Given the description of an element on the screen output the (x, y) to click on. 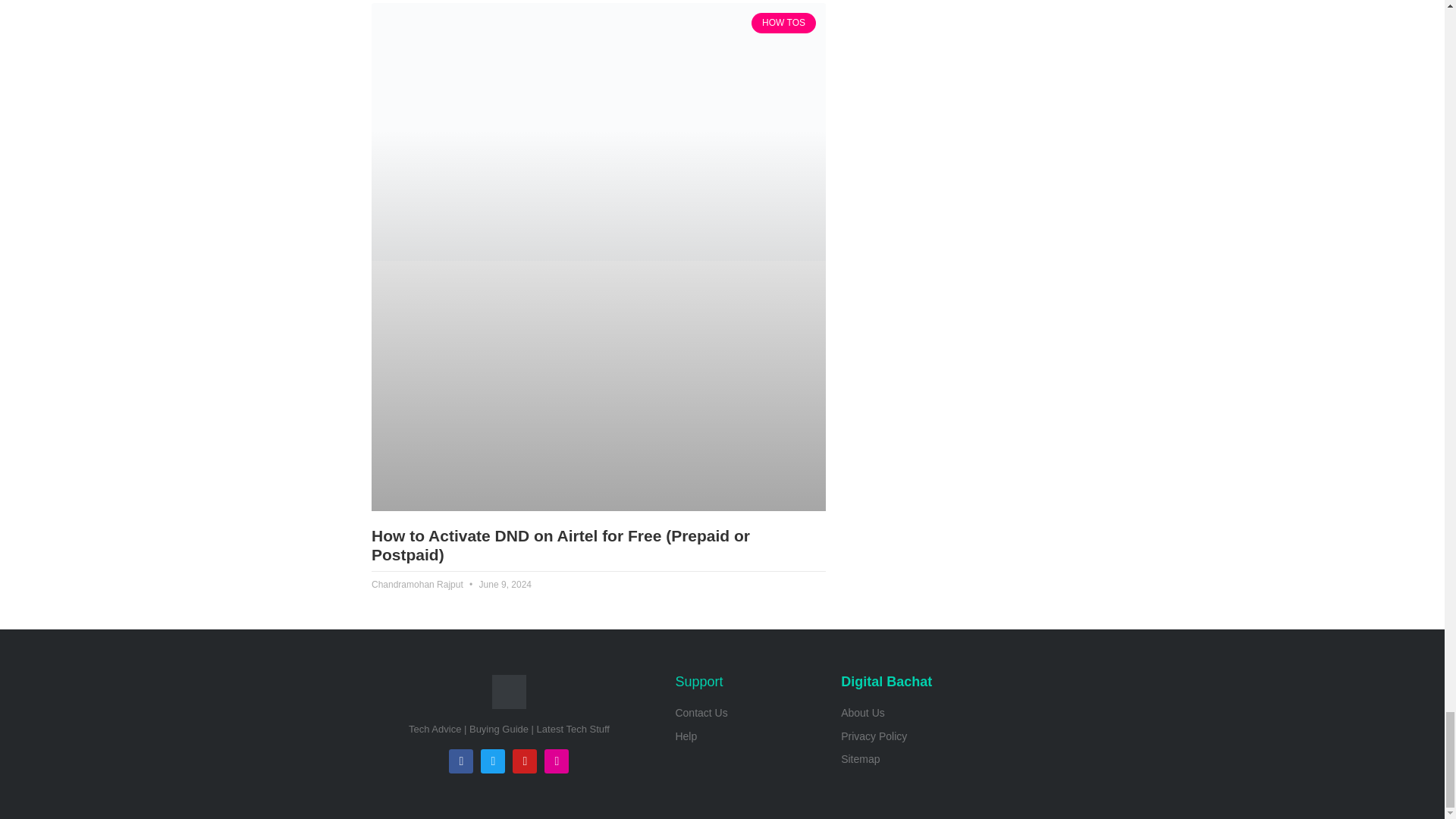
DB-icon.png (508, 691)
